Given the description of an element on the screen output the (x, y) to click on. 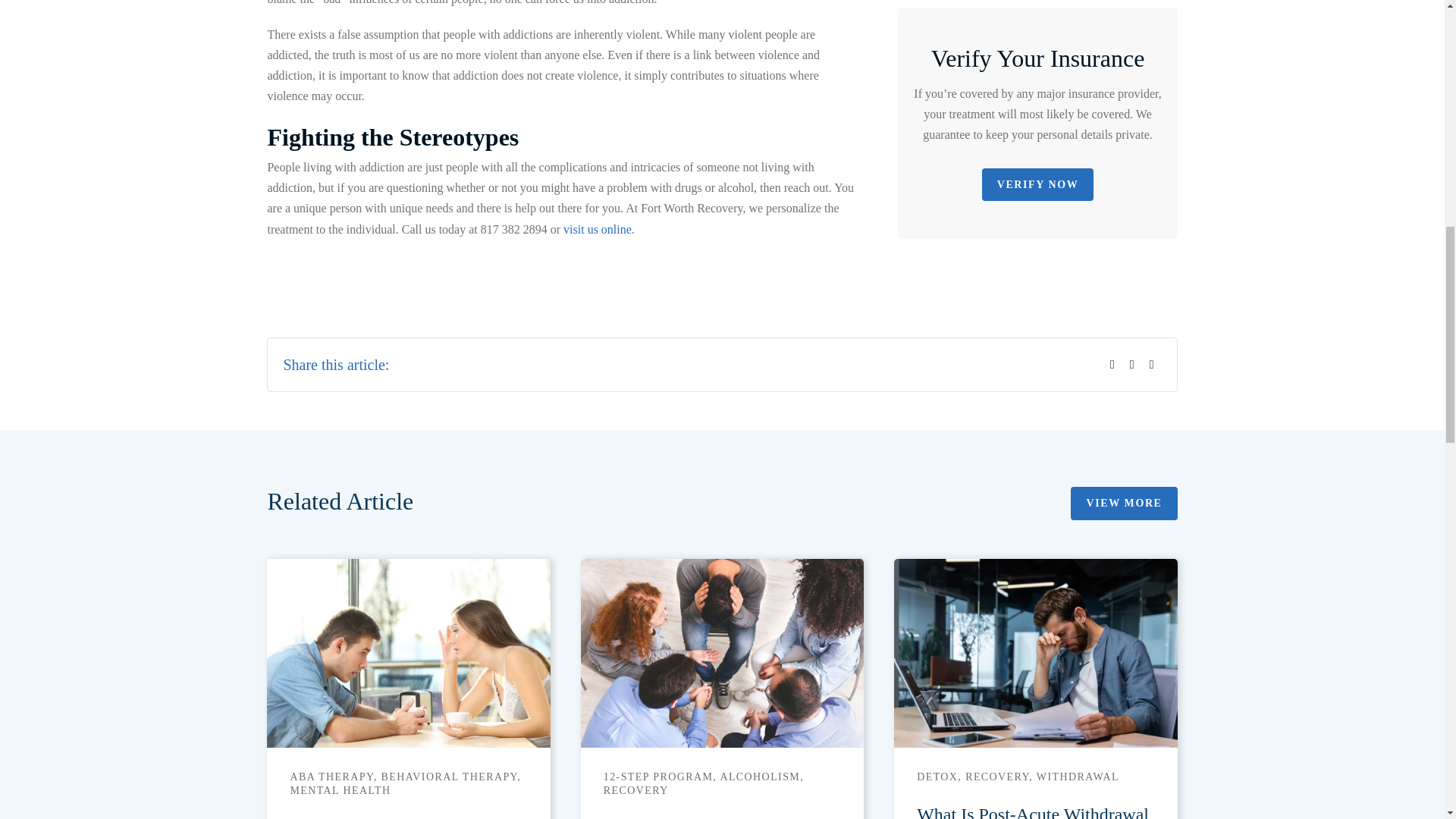
X (1131, 363)
Signs of High functioning autism (408, 652)
Do i need 12-step program for alcohol (721, 652)
What is Post-acute withdrawal syndrome (1034, 652)
LinkedIn (1151, 363)
Facebook (1112, 363)
